Given the description of an element on the screen output the (x, y) to click on. 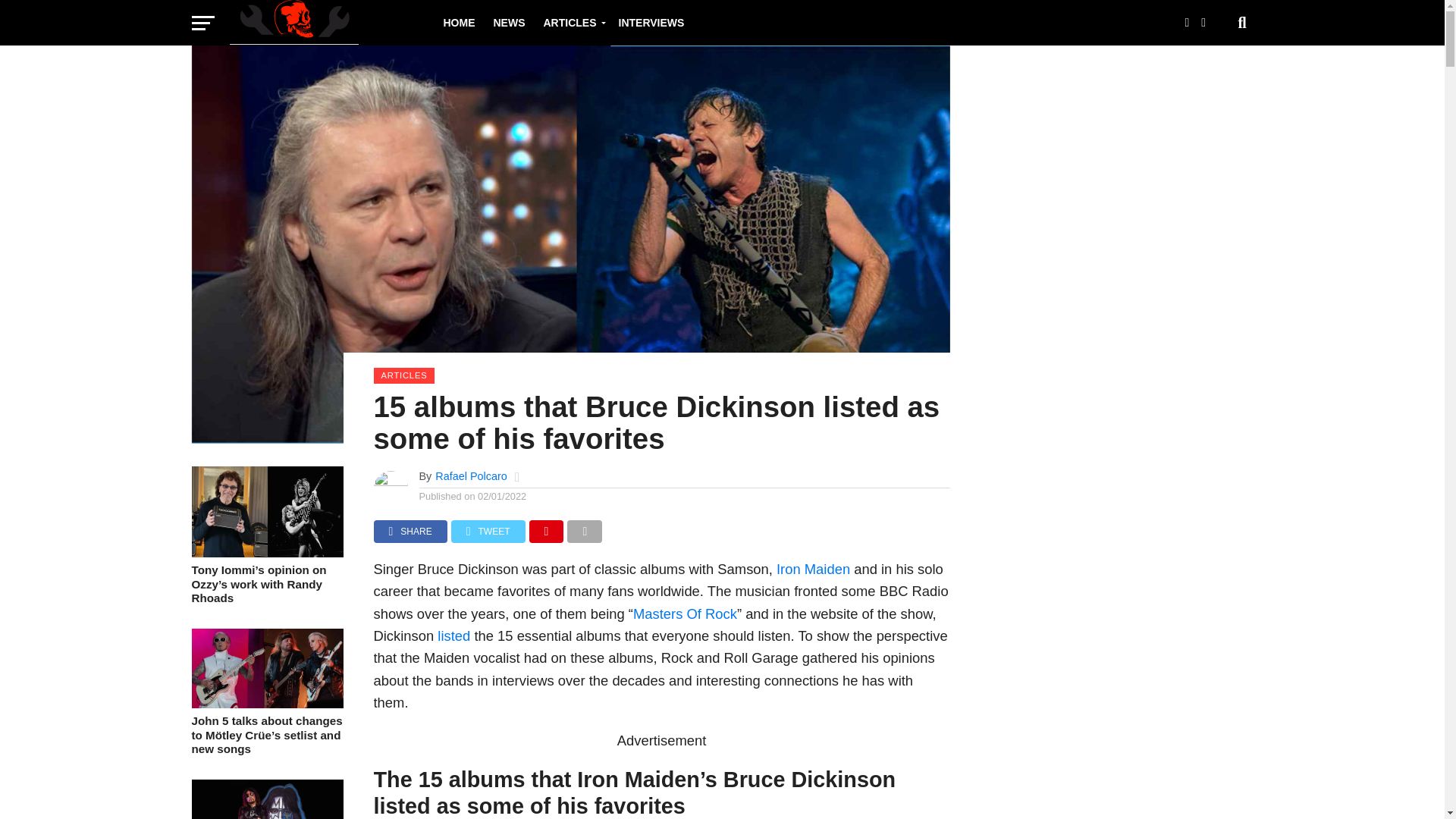
HOME (458, 22)
NEWS (508, 22)
Posts by Rafael Polcaro (470, 476)
INTERVIEWS (652, 22)
ARTICLES (571, 22)
